Given the description of an element on the screen output the (x, y) to click on. 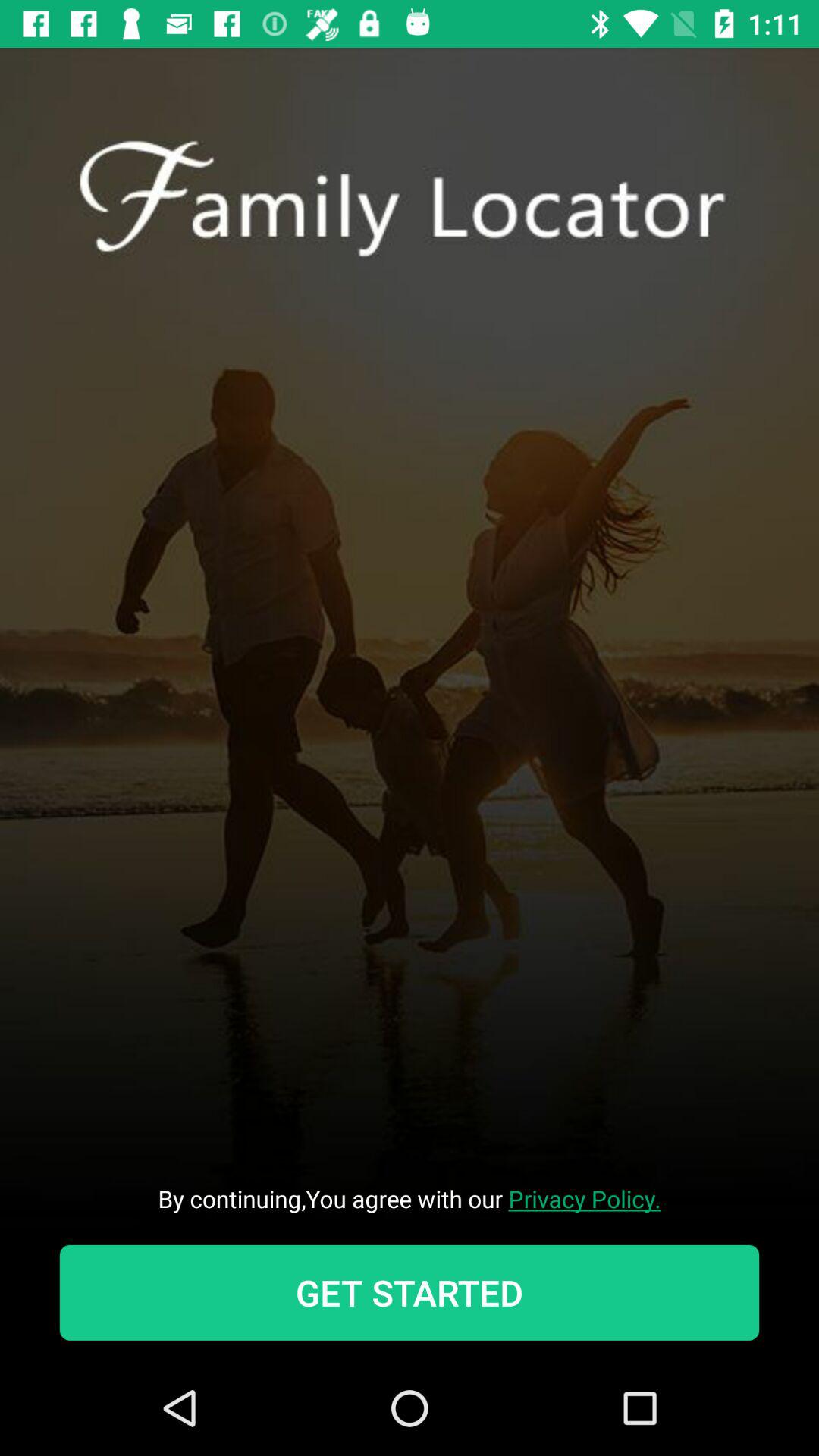
flip to get started item (409, 1292)
